Given the description of an element on the screen output the (x, y) to click on. 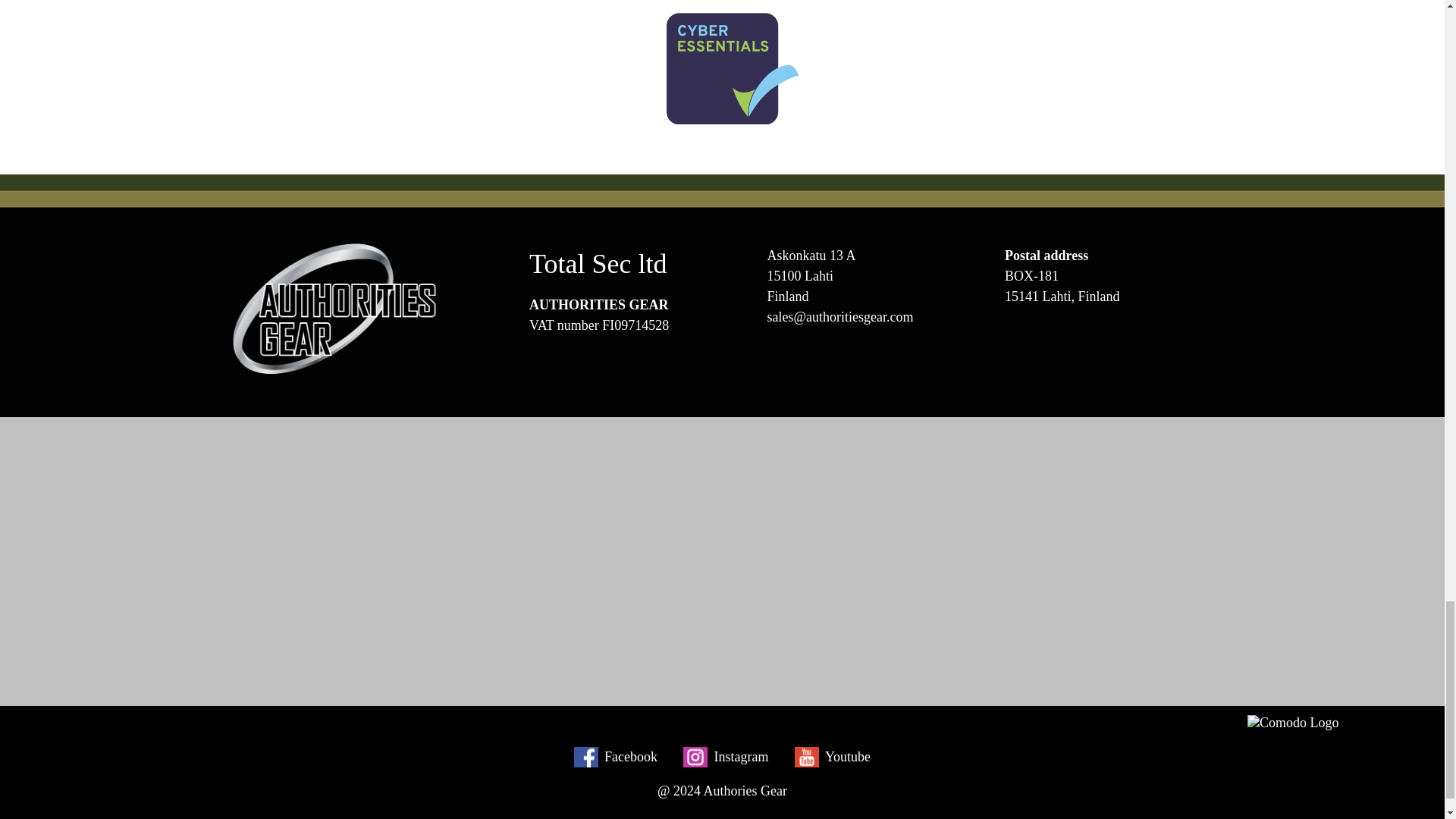
Instagram (725, 756)
Youtube (832, 756)
Facebook (615, 756)
